Given the description of an element on the screen output the (x, y) to click on. 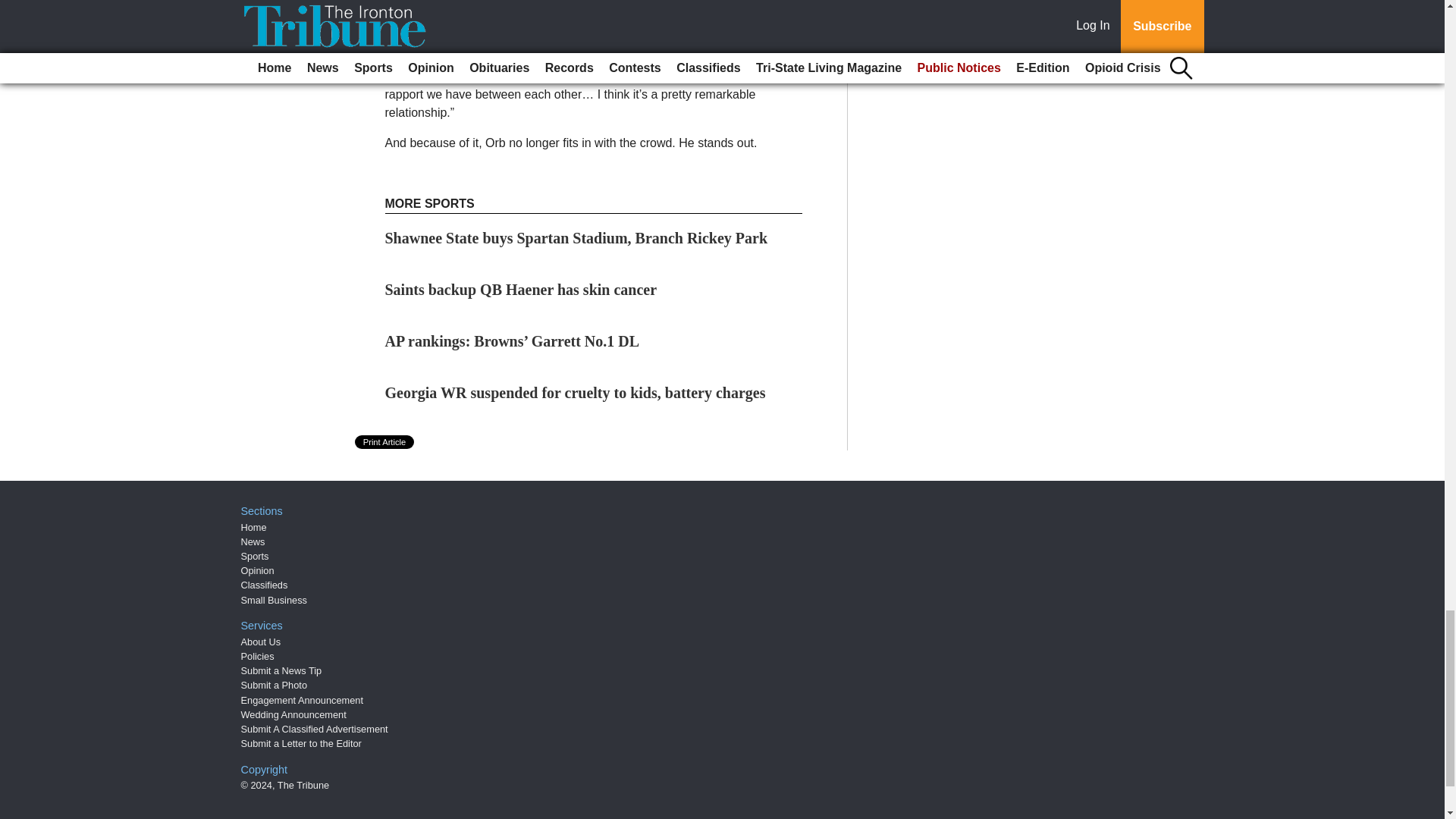
Georgia WR suspended for cruelty to kids, battery charges (575, 392)
Home (253, 527)
Opinion (258, 570)
Sports (255, 555)
Classifieds (264, 584)
Shawnee State buys Spartan Stadium, Branch Rickey Park (576, 238)
News (252, 541)
Shawnee State buys Spartan Stadium, Branch Rickey Park (576, 238)
Saints backup QB Haener has skin cancer (521, 289)
Saints backup QB Haener has skin cancer (521, 289)
Print Article (384, 441)
Georgia WR suspended for cruelty to kids, battery charges (575, 392)
